Given the description of an element on the screen output the (x, y) to click on. 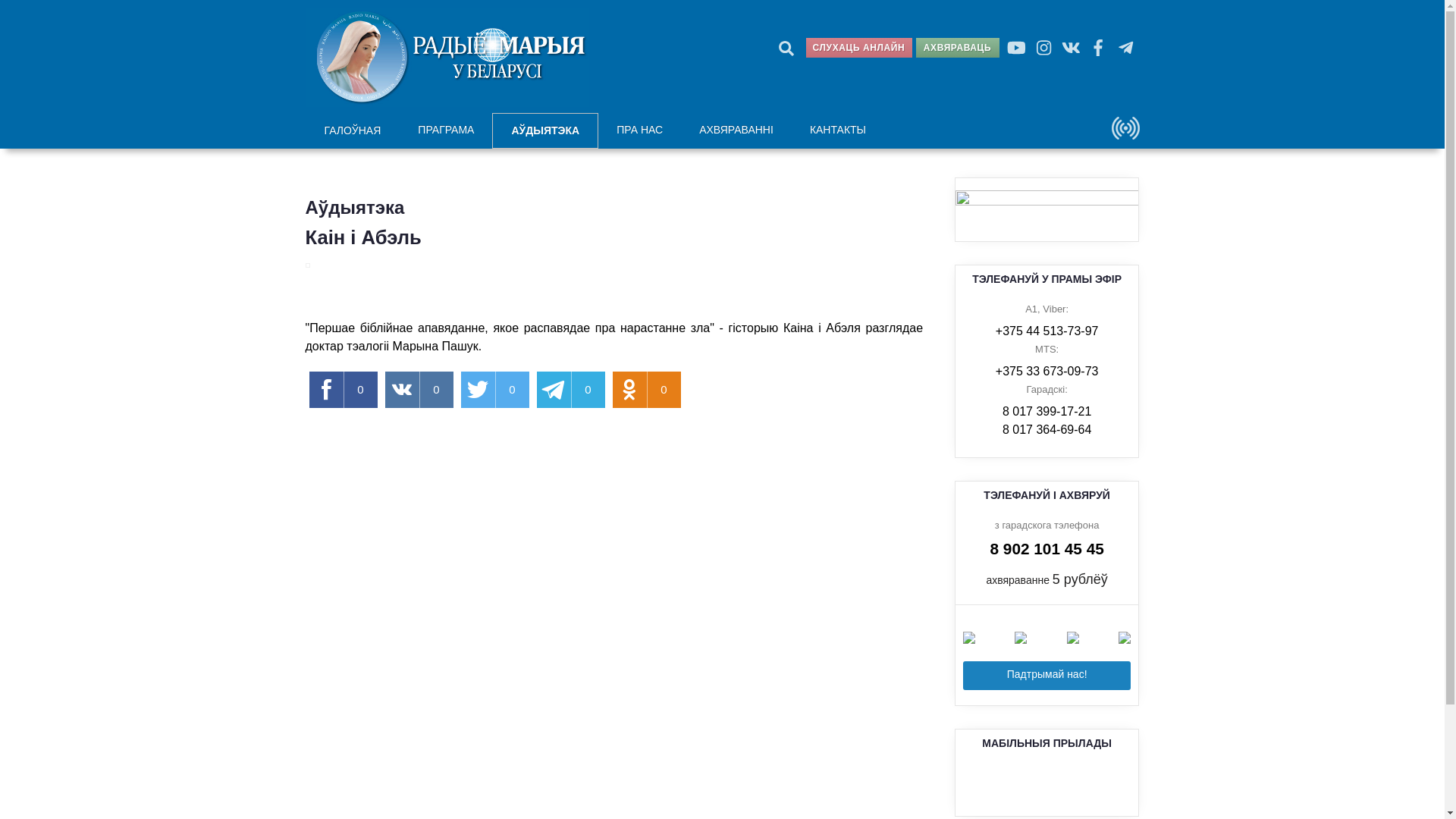
https://t.me/radiomariabelarus Element type: hover (1047, 208)
VK Element type: hover (1071, 47)
Facebook Element type: hover (1098, 47)
Telegram Element type: hover (1125, 47)
Instagram Element type: hover (1044, 47)
Youtube Element type: hover (1016, 47)
